Given the description of an element on the screen output the (x, y) to click on. 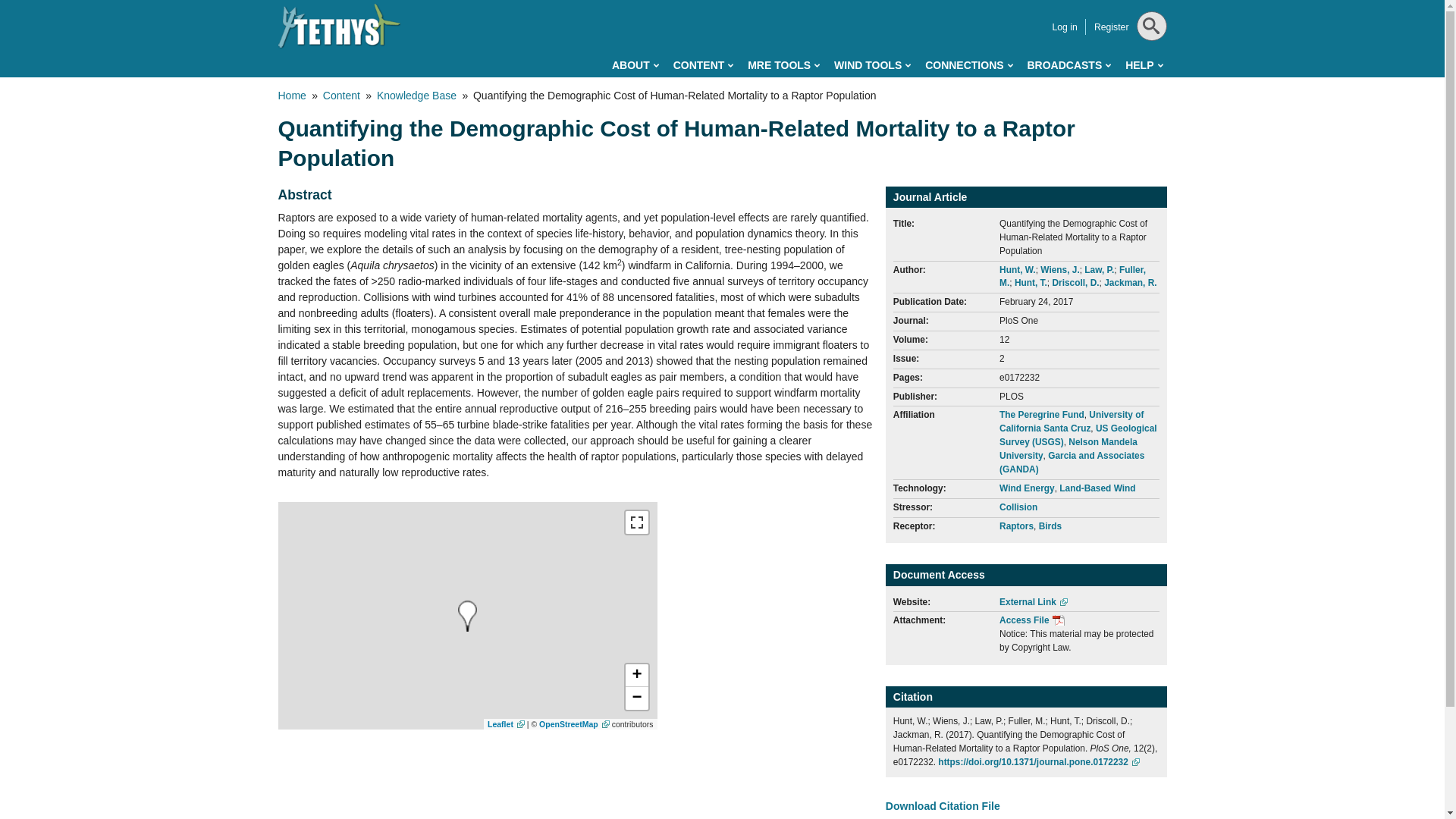
A JavaScript library for interactive maps (505, 723)
Home (339, 26)
Skip to main content (654, 3)
Zoom out (635, 698)
Zoom in (635, 675)
Search (1148, 64)
View Fullscreen (635, 522)
